Given the description of an element on the screen output the (x, y) to click on. 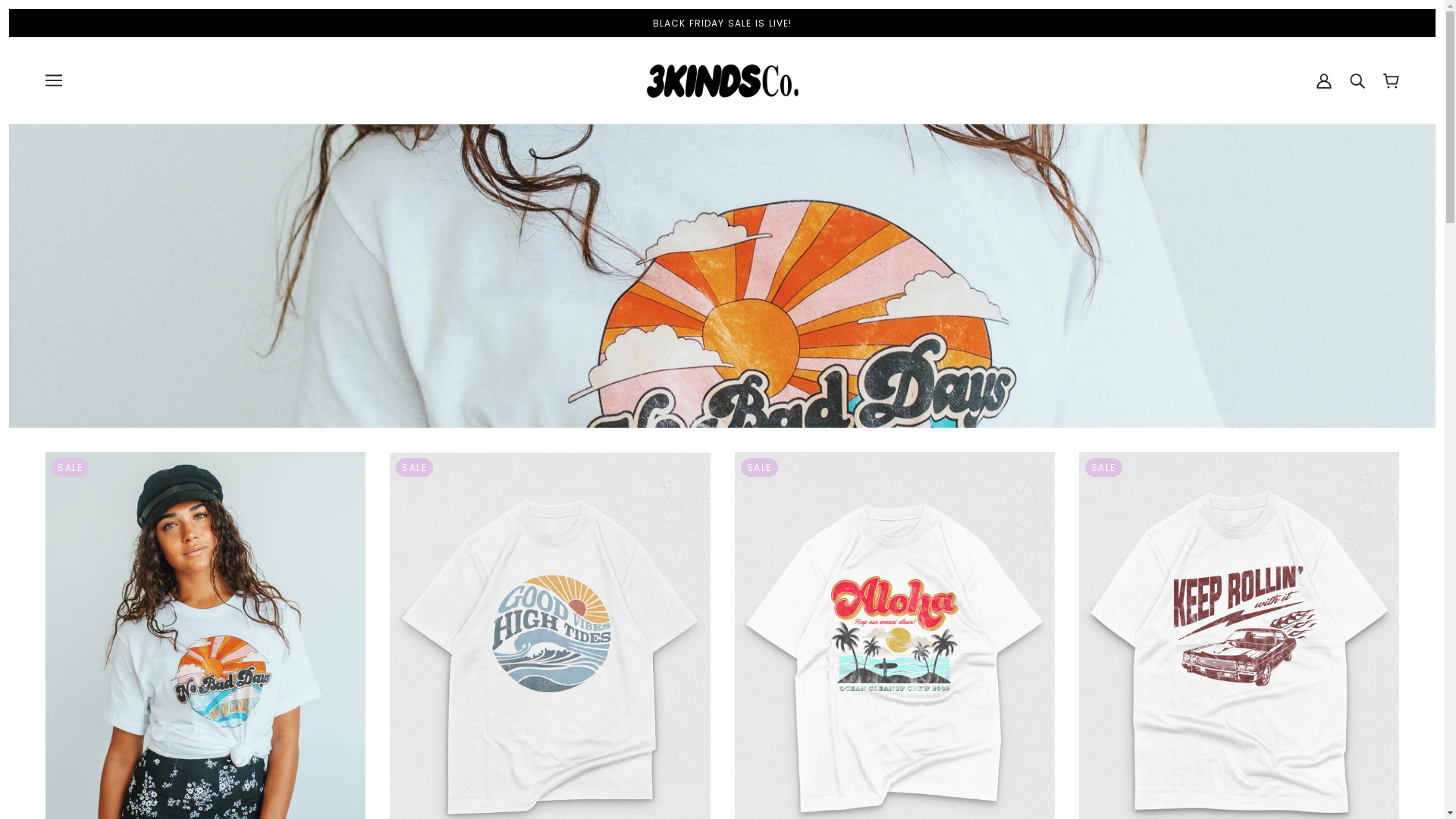
BLACK FRIDAY SALE IS LIVE! Element type: text (722, 23)
3 Kinds Co. Element type: hover (721, 79)
